Given the description of an element on the screen output the (x, y) to click on. 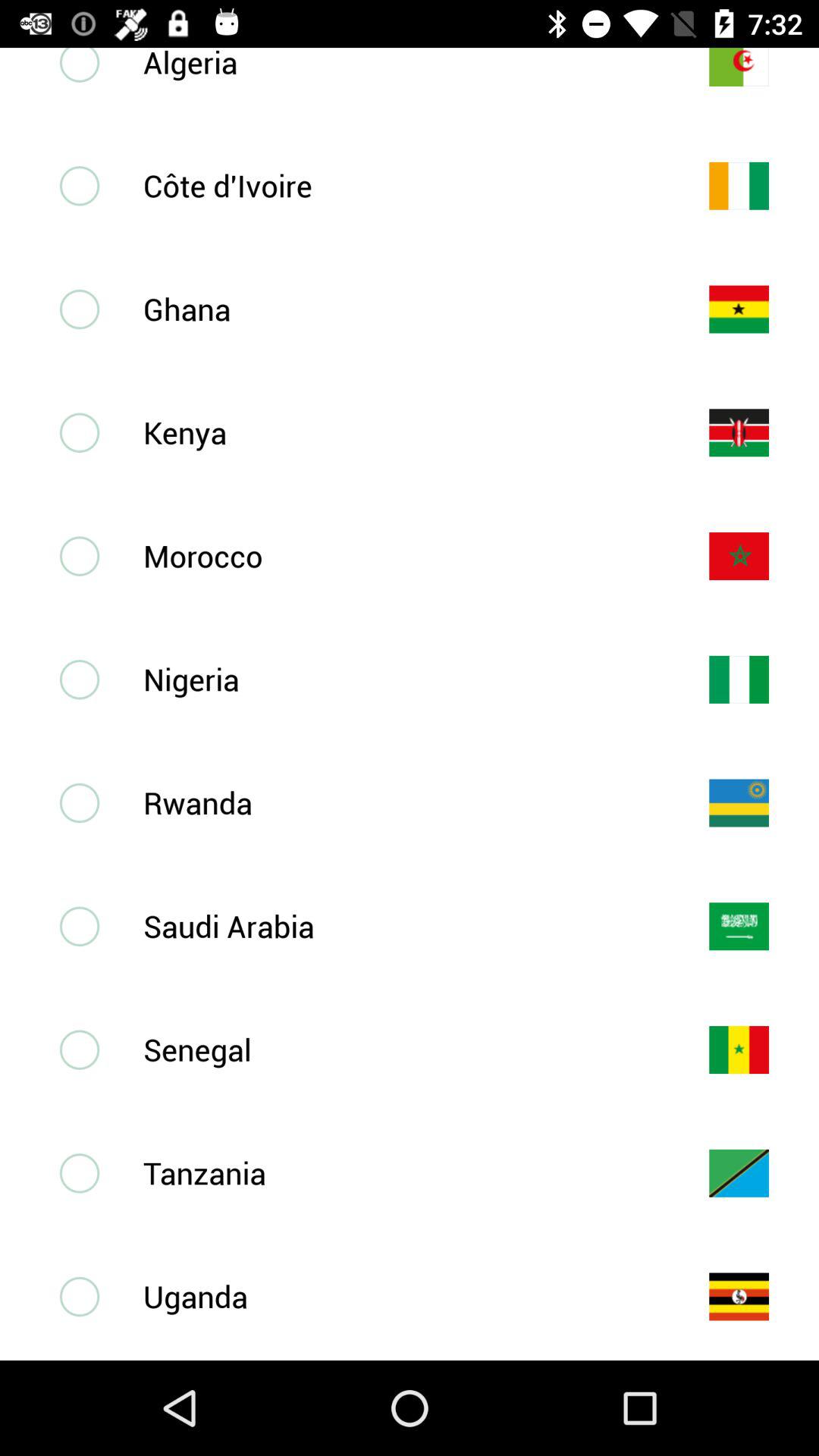
flip to the senegal (401, 1049)
